Given the description of an element on the screen output the (x, y) to click on. 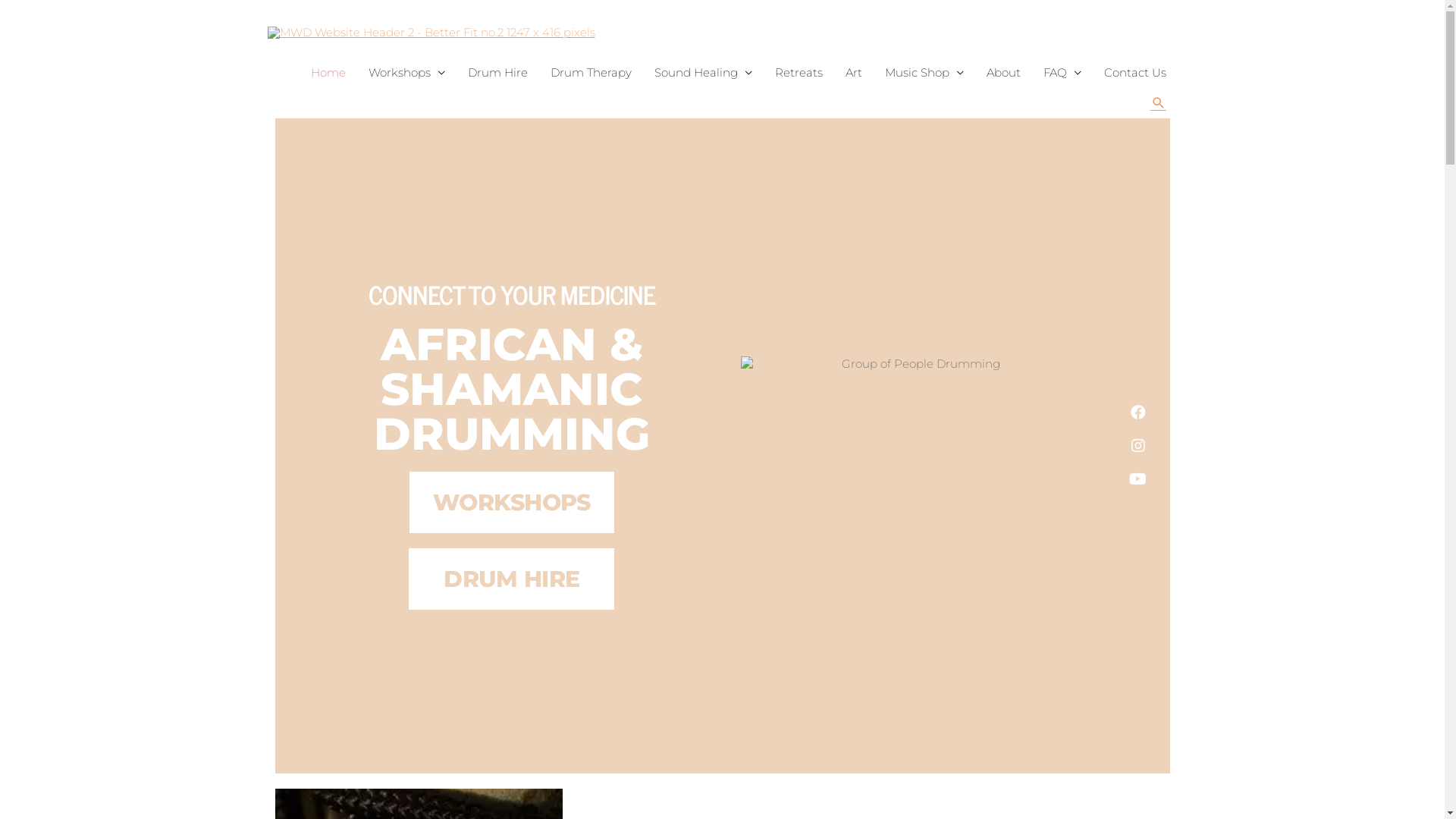
Contact Us Element type: text (1134, 72)
Facebook Element type: text (1137, 412)
Art Element type: text (853, 72)
FAQ Element type: text (1061, 72)
Retreats Element type: text (797, 72)
Instagram Element type: text (1137, 445)
Sound Healing Element type: text (703, 72)
DRUM HIRE Element type: text (511, 578)
About Element type: text (1003, 72)
Youtube Element type: text (1137, 478)
Home Element type: text (327, 72)
Workshops Element type: text (405, 72)
WORKSHOPS Element type: text (511, 502)
Drum Therapy Element type: text (590, 72)
Music Shop Element type: text (924, 72)
Drum Hire Element type: text (497, 72)
Search Element type: text (1158, 102)
